Given the description of an element on the screen output the (x, y) to click on. 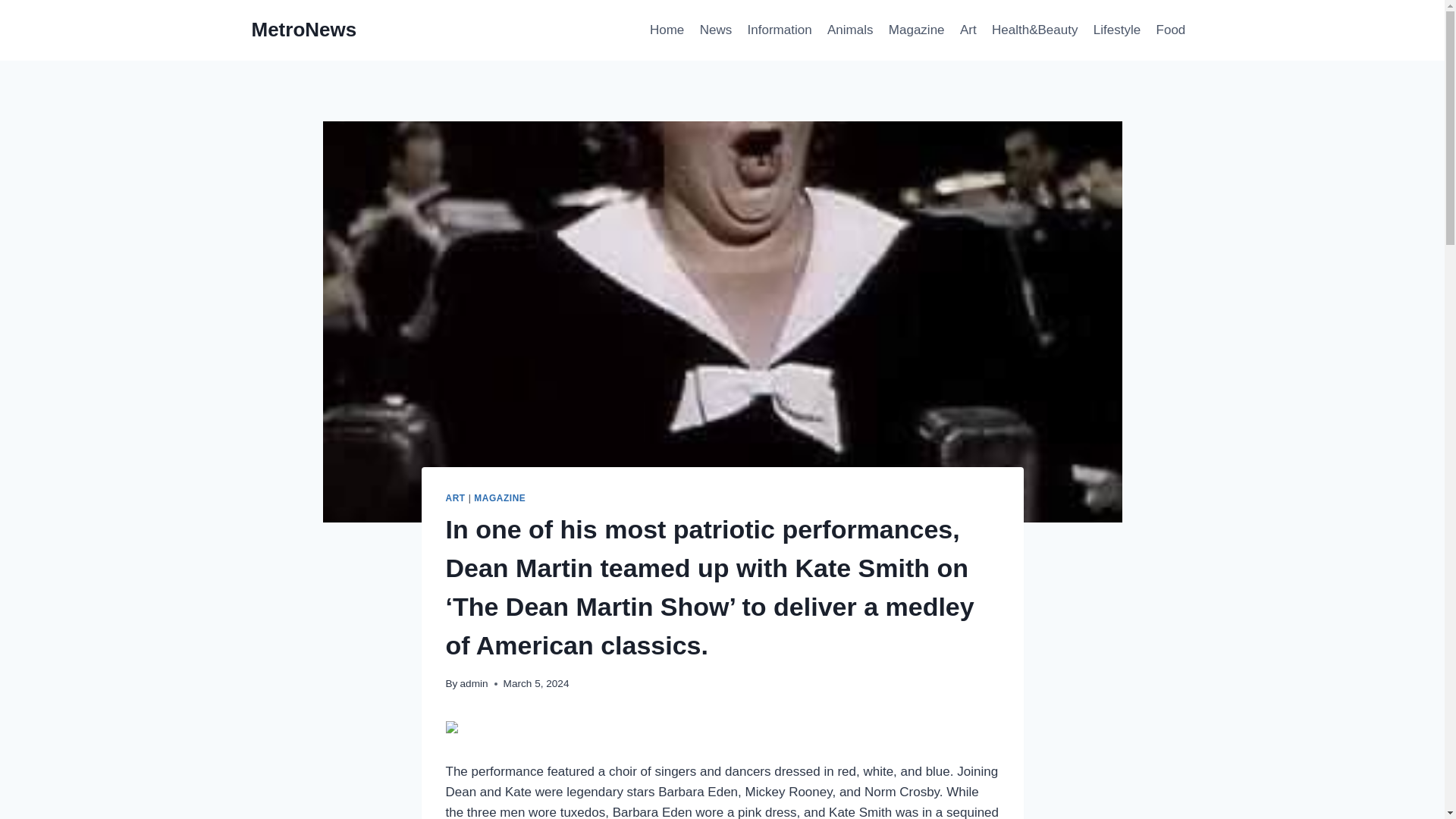
ART (455, 498)
Animals (849, 30)
Lifestyle (1117, 30)
MAGAZINE (499, 498)
admin (473, 683)
Information (778, 30)
Food (1170, 30)
Home (667, 30)
Magazine (916, 30)
News (715, 30)
MetroNews (303, 29)
